Given the description of an element on the screen output the (x, y) to click on. 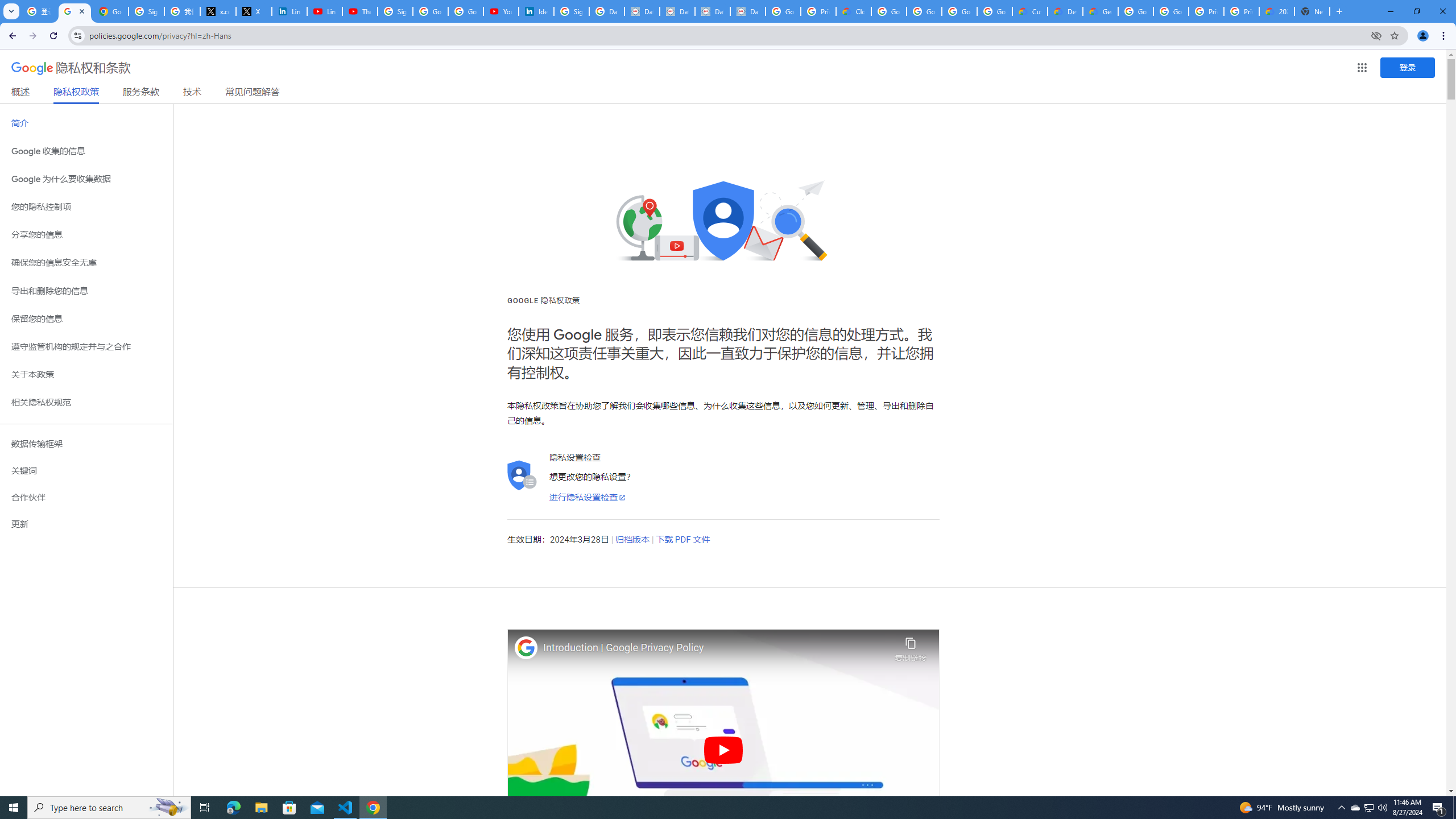
Google Cloud Platform (1170, 11)
